Given the description of an element on the screen output the (x, y) to click on. 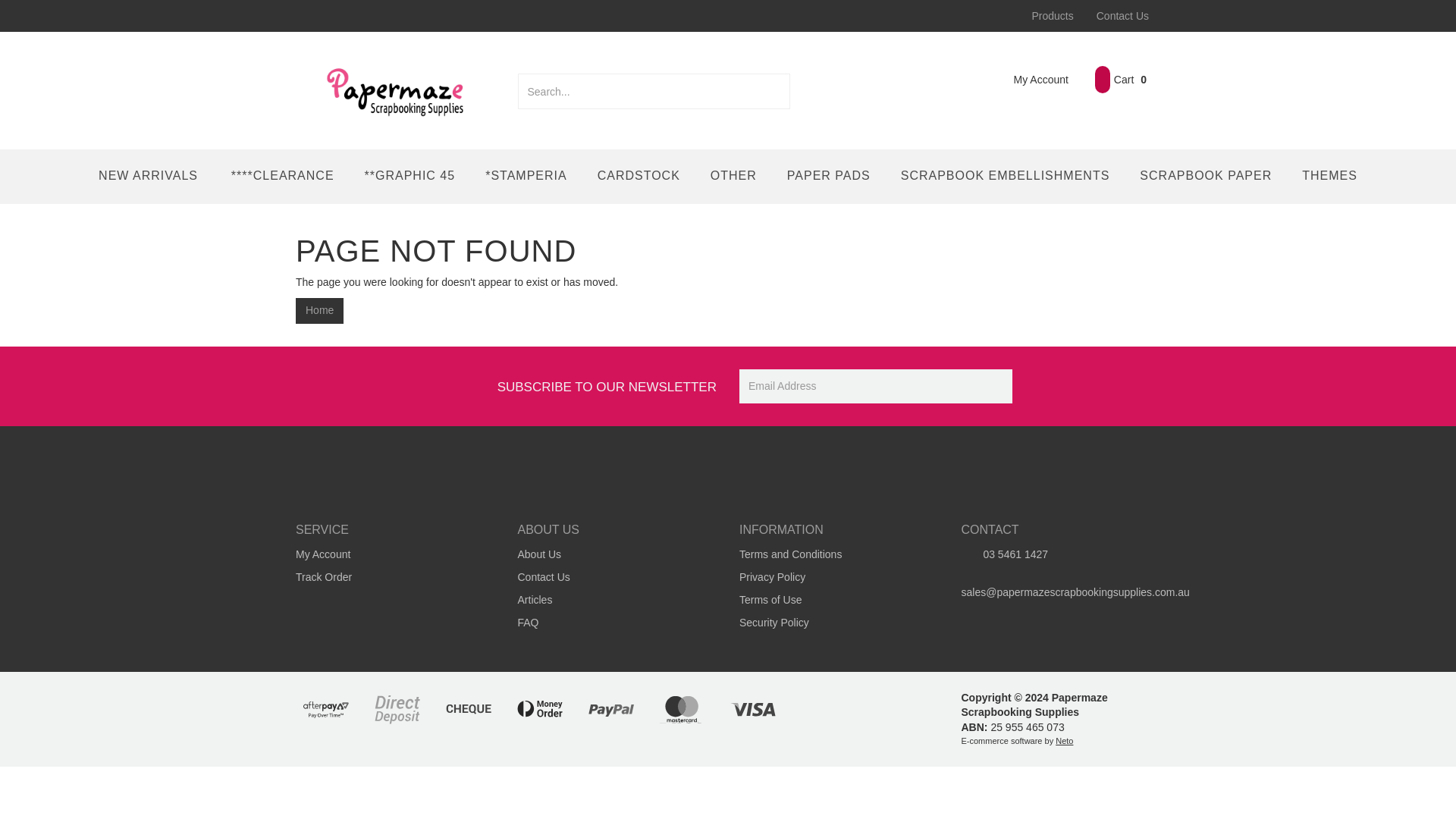
Papermaze Scrapbooking Supplies (395, 89)
Home Page (319, 310)
